Given the description of an element on the screen output the (x, y) to click on. 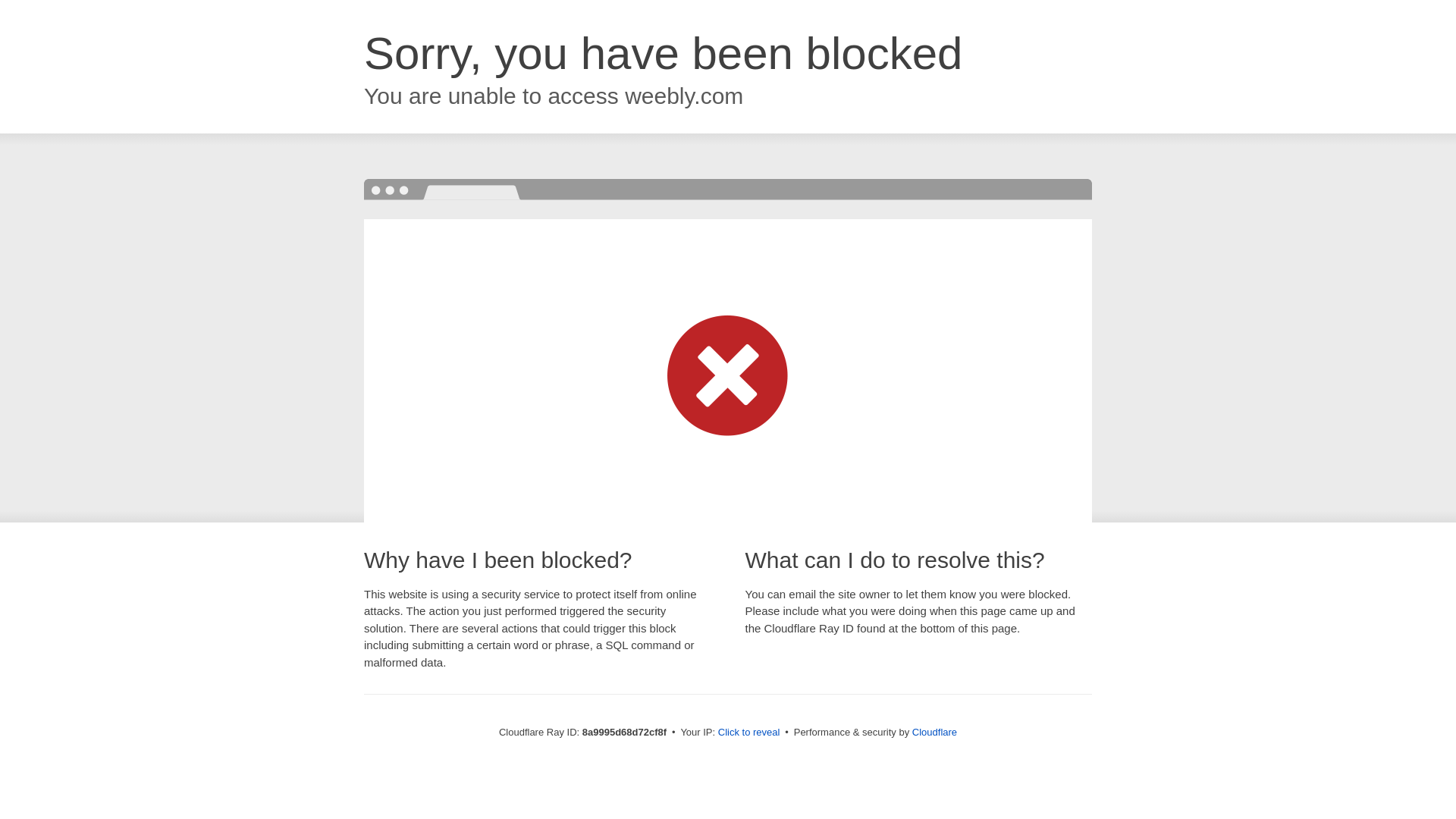
Click to reveal (748, 732)
Cloudflare (934, 731)
